Given the description of an element on the screen output the (x, y) to click on. 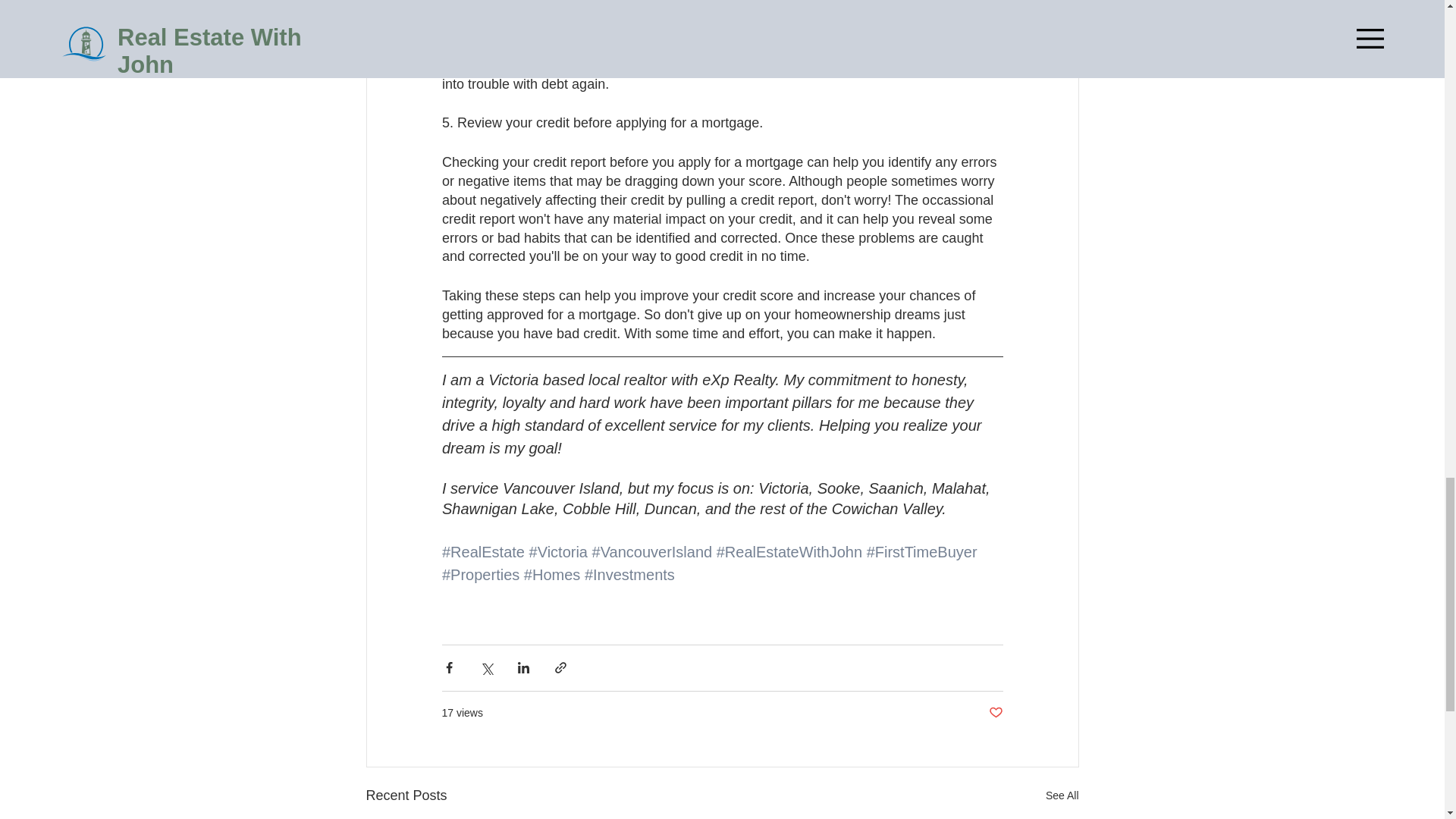
See All (1061, 795)
Post not marked as liked (995, 713)
